Given the description of an element on the screen output the (x, y) to click on. 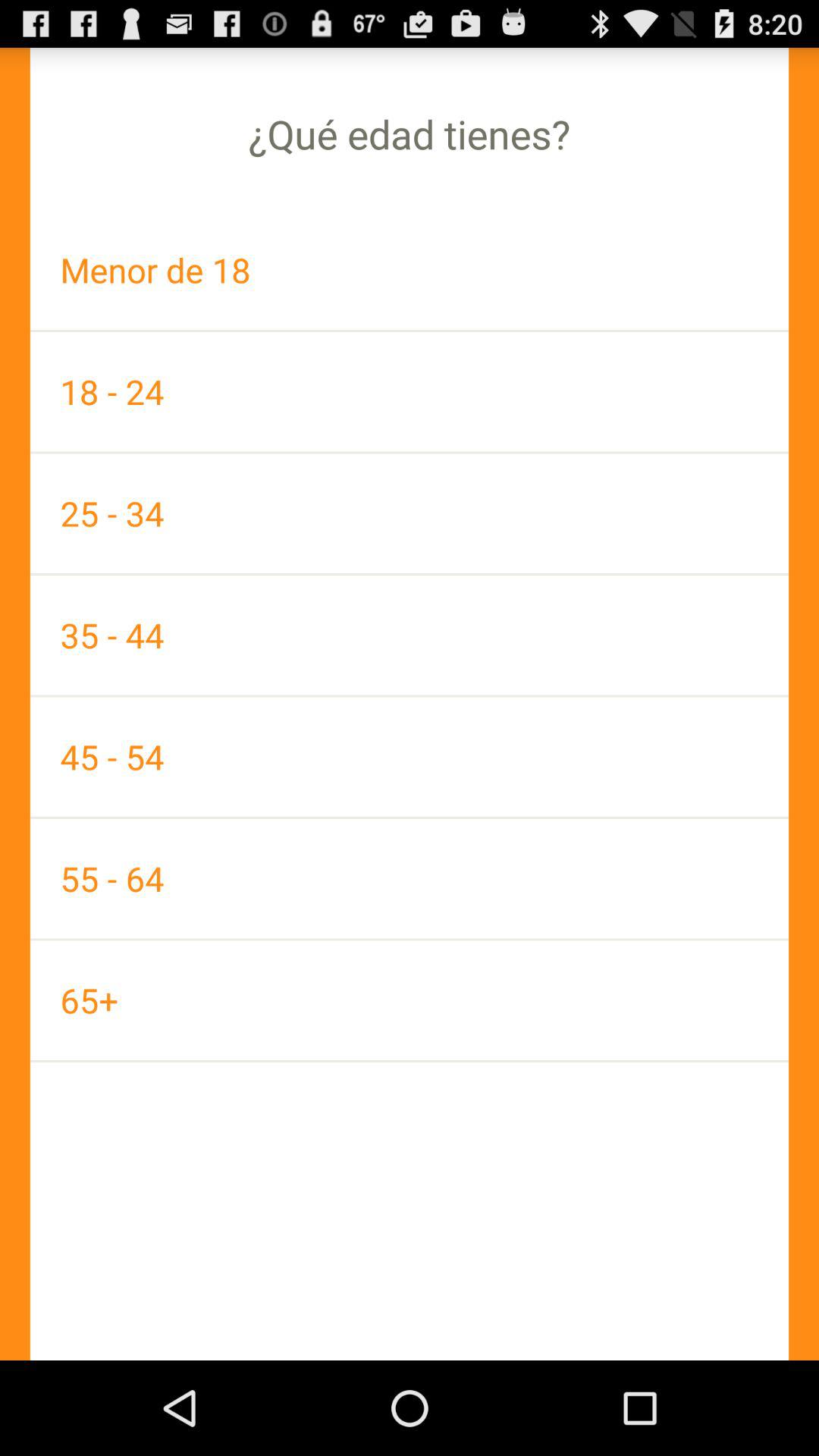
press item above the 25 - 34 app (409, 391)
